Given the description of an element on the screen output the (x, y) to click on. 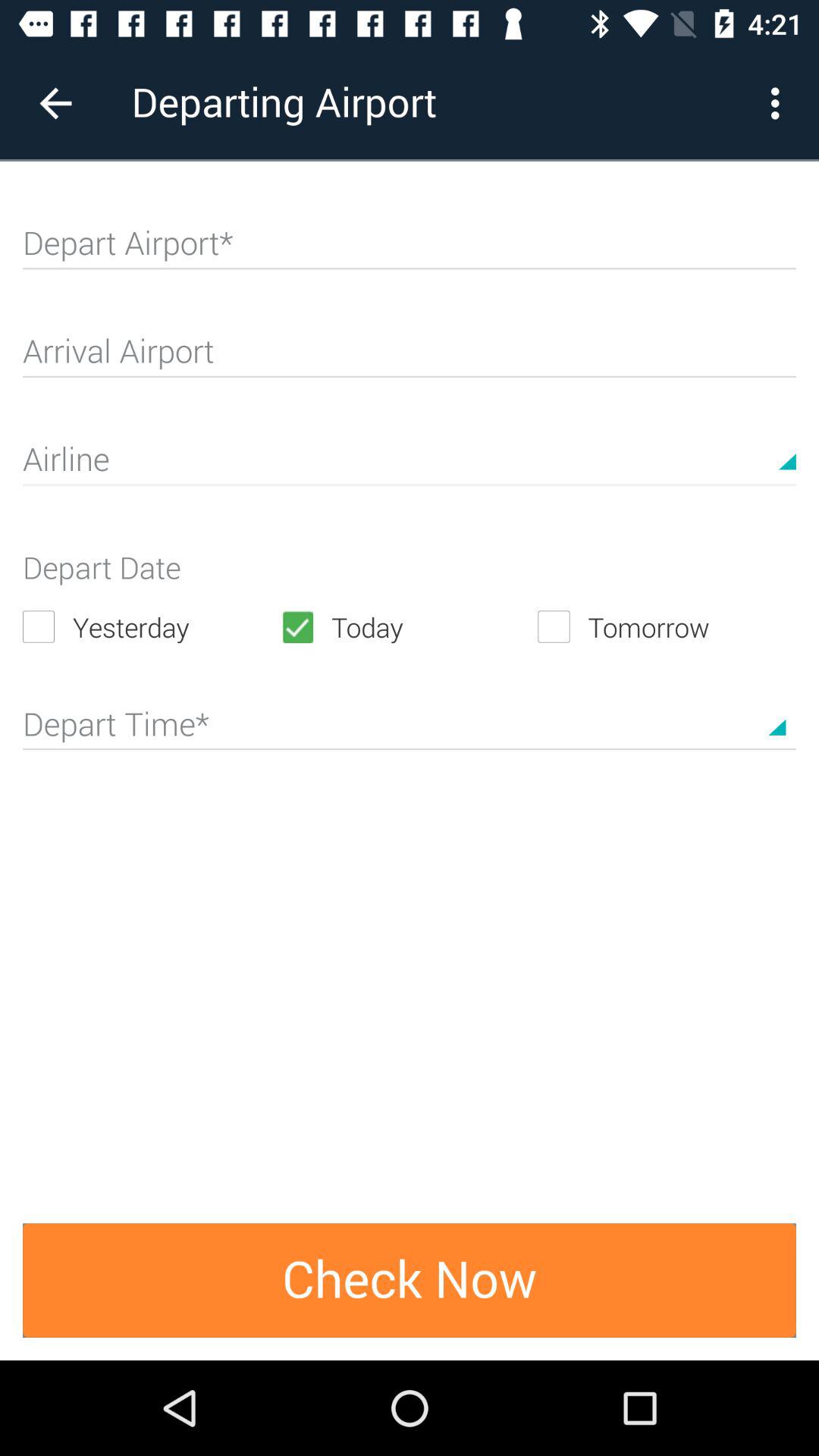
turn off the item to the left of tomorrow (409, 626)
